Given the description of an element on the screen output the (x, y) to click on. 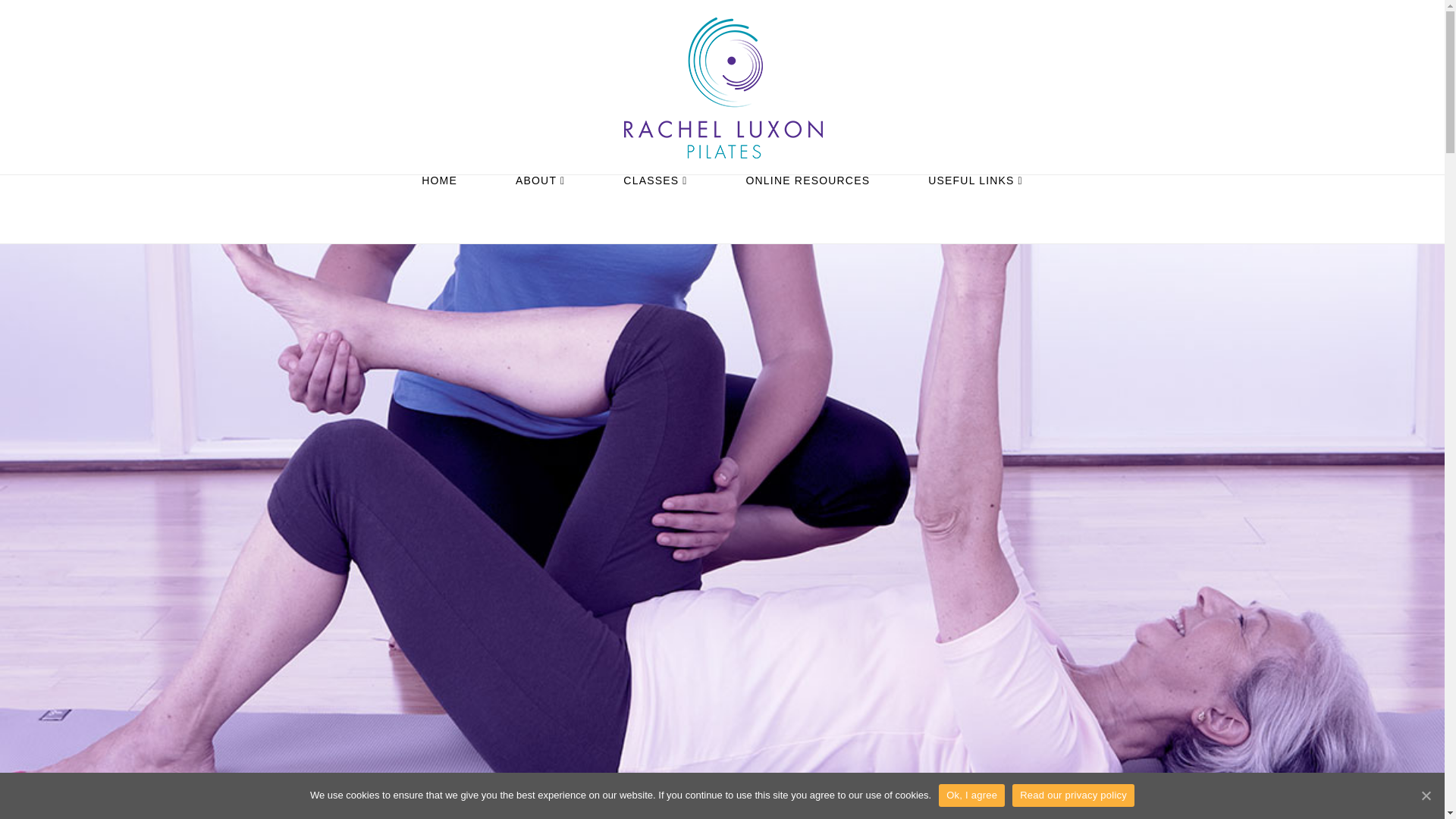
USEFUL LINKS (975, 209)
HOME (439, 209)
CLASSES (655, 209)
ONLINE RESOURCES (807, 209)
ABOUT (540, 209)
